Given the description of an element on the screen output the (x, y) to click on. 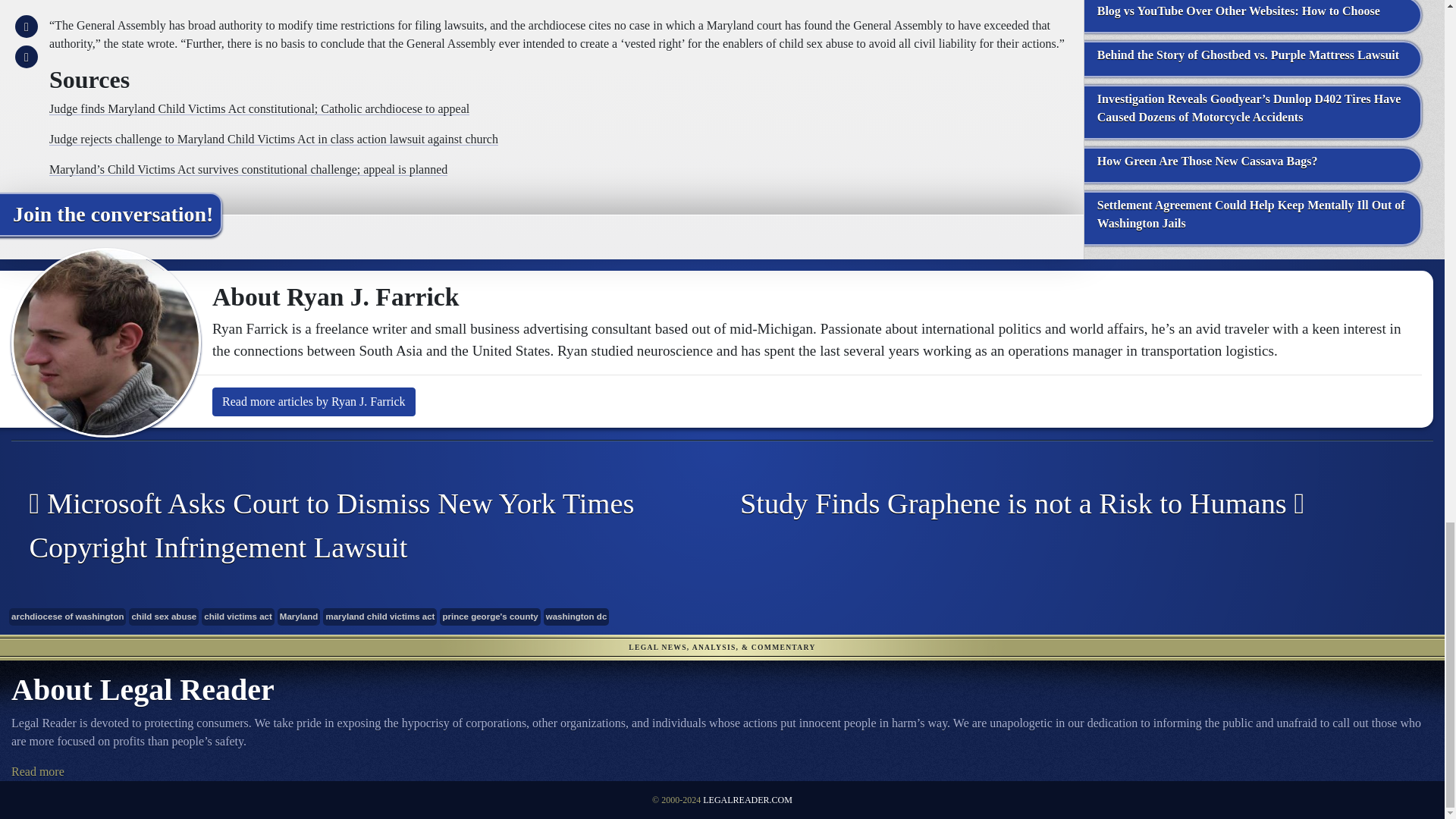
archdiocese of washington (66, 616)
Maryland (299, 616)
Read more articles by Ryan J. Farrick (313, 401)
washington dc (576, 616)
Read more articles by Ryan J. Farrick (313, 401)
Read more (37, 771)
Study Finds Graphene is not a Risk to Humans  (1066, 504)
maryland child victims act (379, 616)
About Legal Reader (37, 771)
